Given the description of an element on the screen output the (x, y) to click on. 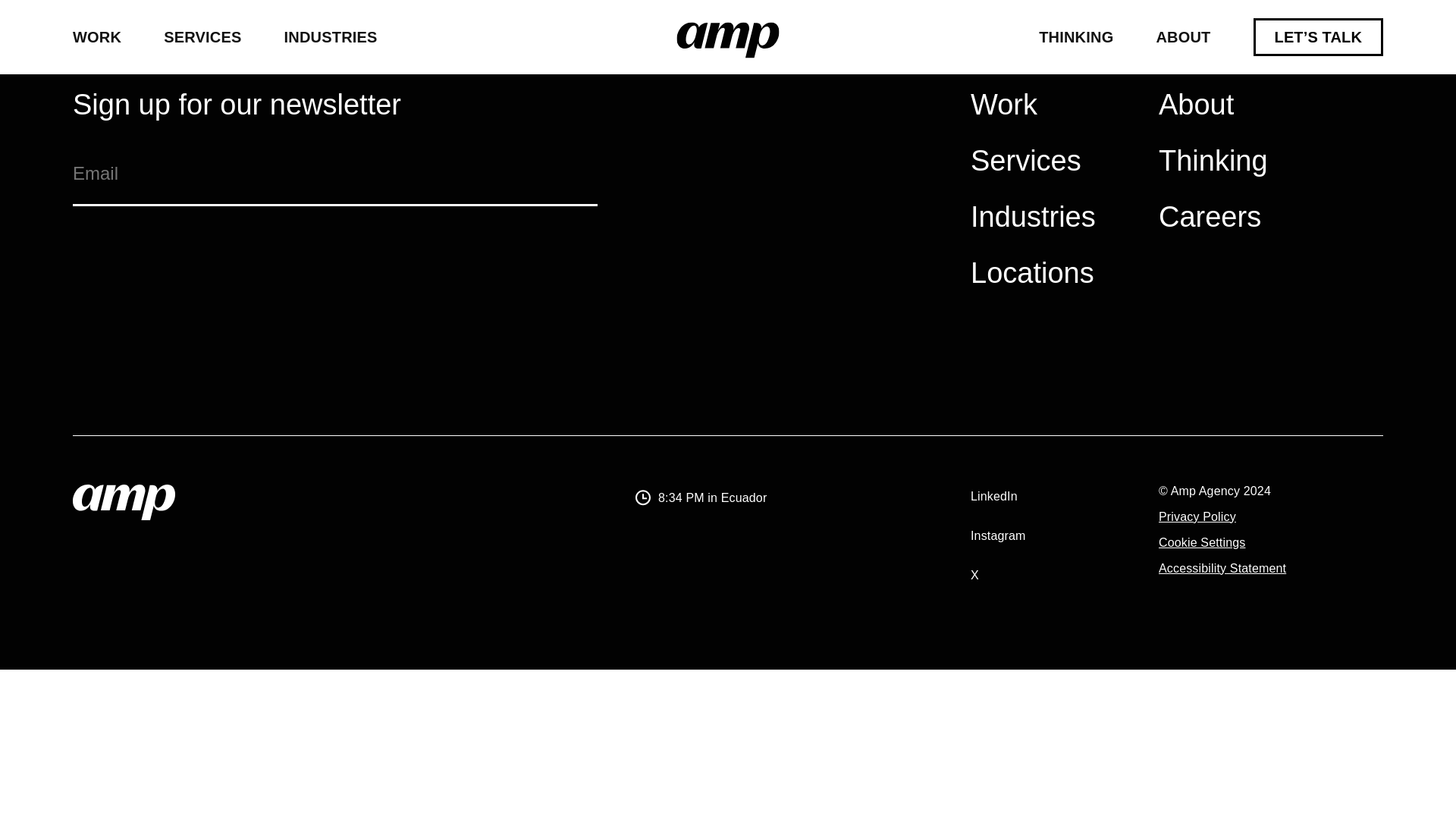
Amp Agency Logo (123, 502)
